Given the description of an element on the screen output the (x, y) to click on. 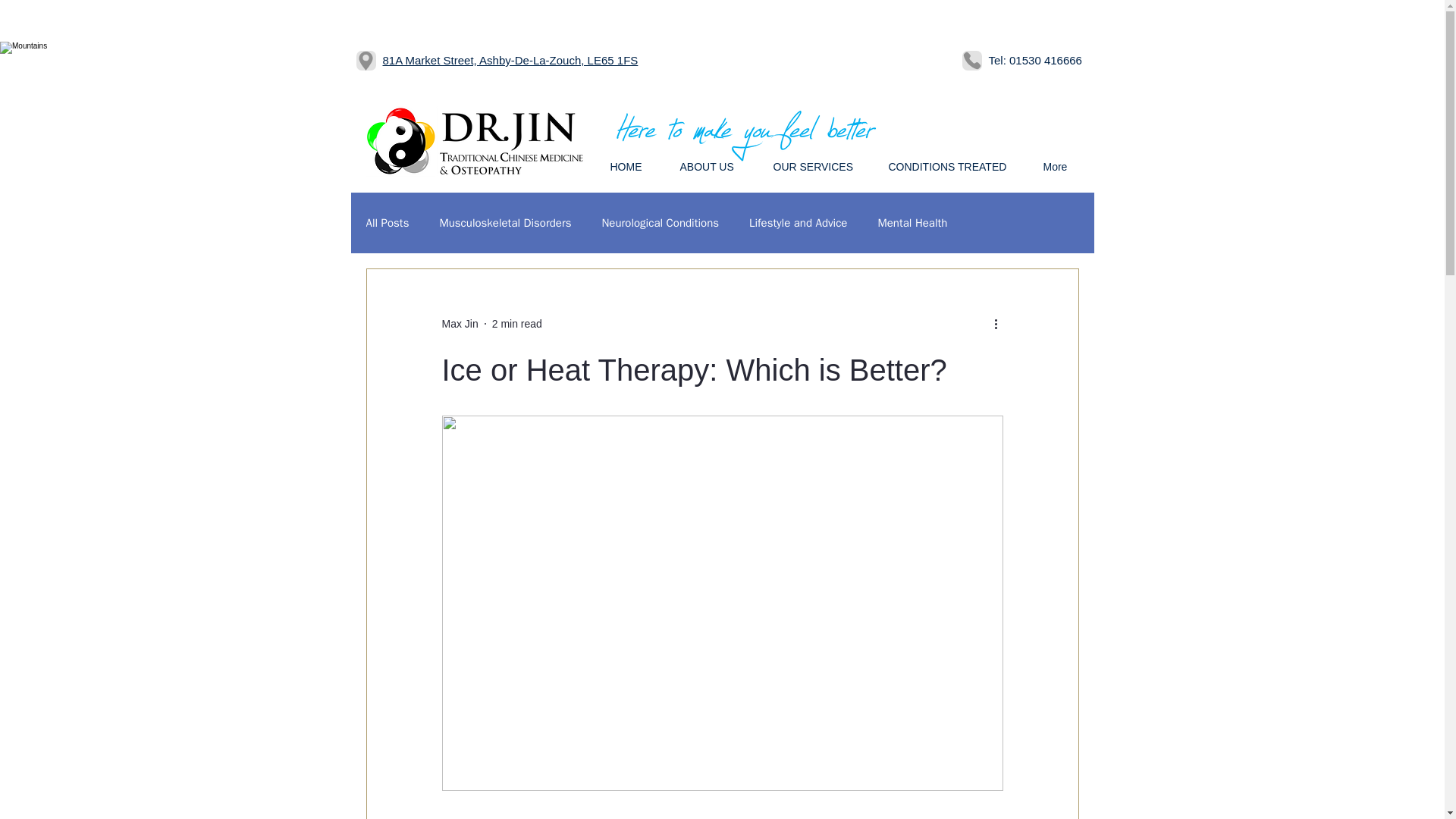
ABOUT US (714, 166)
2 min read (516, 322)
CONDITIONS TREATED (953, 166)
81A Market Street, Ashby-De-La-Zouch, LE65 1FS (509, 60)
HOME (633, 166)
Lifestyle and Advice (798, 222)
Musculoskeletal Disorders (504, 222)
Neurological Conditions (660, 222)
OUR SERVICES (818, 166)
Mental Health (912, 222)
All Posts (387, 222)
Max Jin (459, 323)
